Given the description of an element on the screen output the (x, y) to click on. 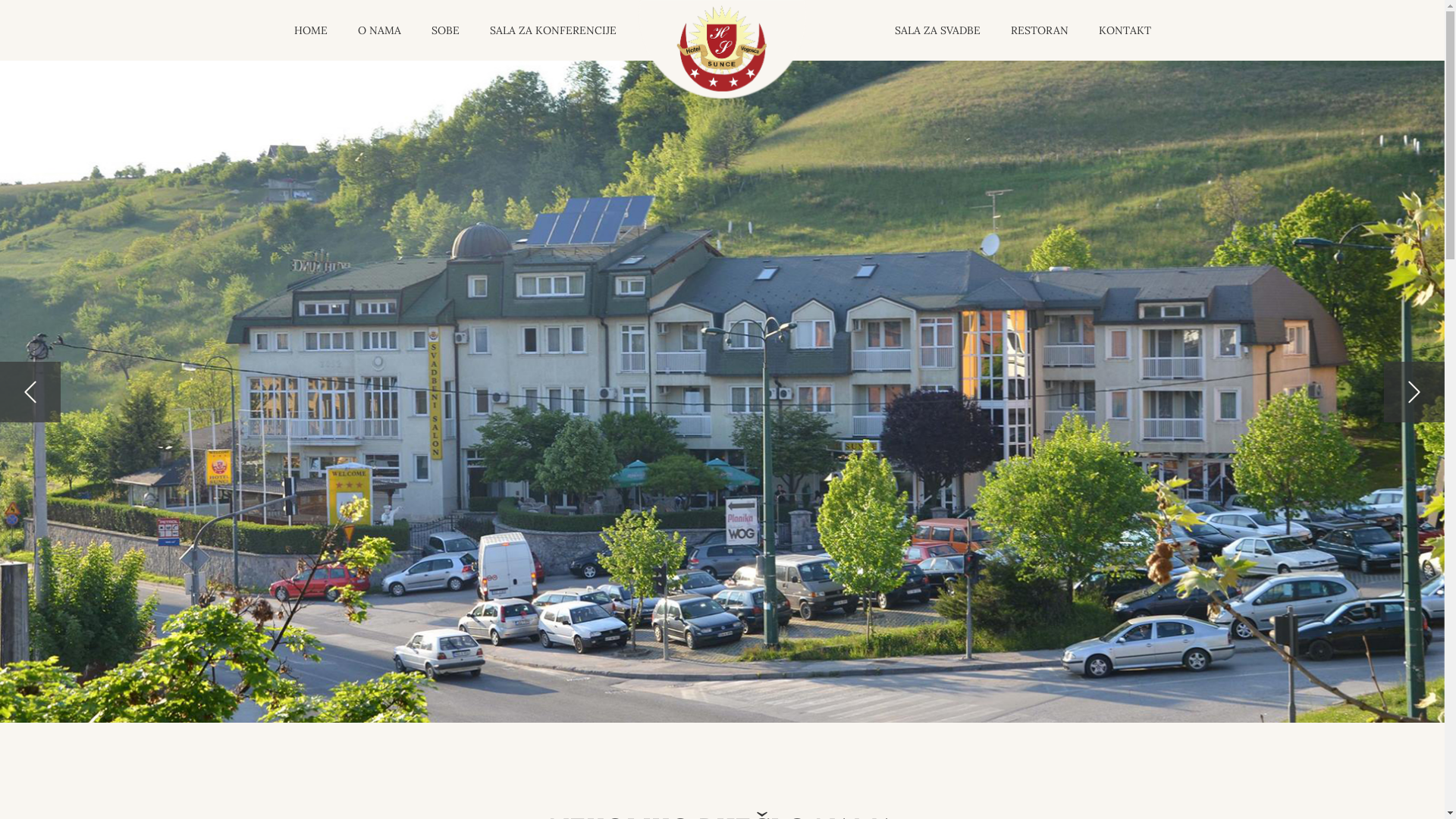
O NAMA Element type: text (378, 30)
HOME Element type: text (309, 30)
KONTAKT Element type: text (1124, 30)
SALA ZA KONFERENCIJE Element type: text (552, 30)
SALA ZA SVADBE Element type: text (936, 30)
RESTORAN Element type: text (1039, 30)
SOBE Element type: text (445, 30)
